Given the description of an element on the screen output the (x, y) to click on. 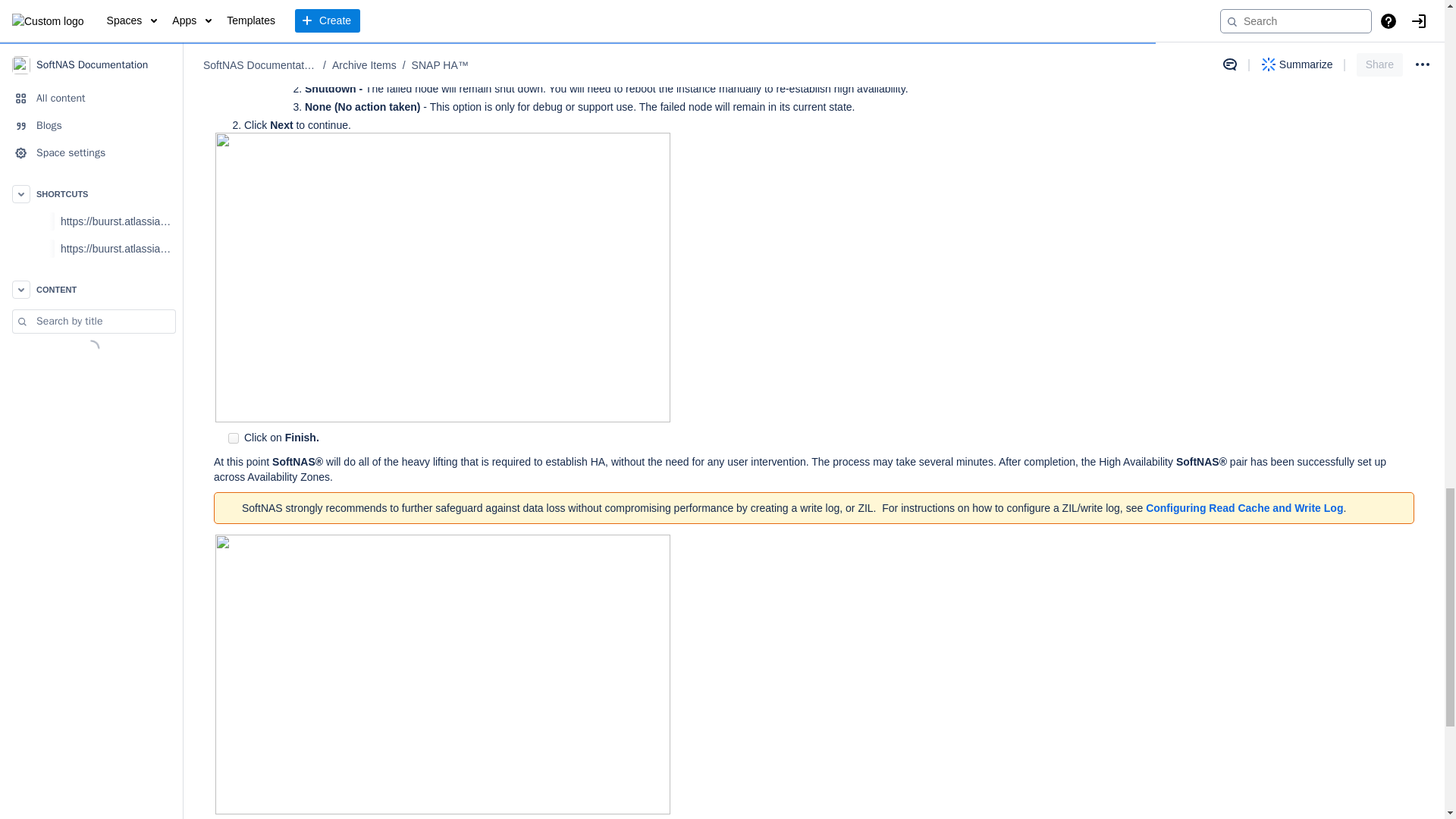
Configuring Read Cache and Write Log (1243, 508)
